Given the description of an element on the screen output the (x, y) to click on. 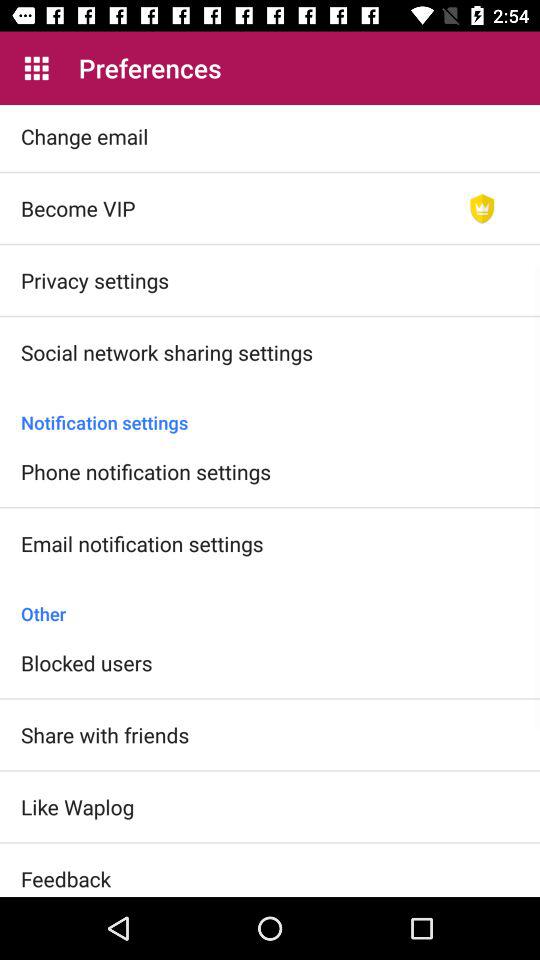
flip to the like waplog (77, 806)
